Given the description of an element on the screen output the (x, y) to click on. 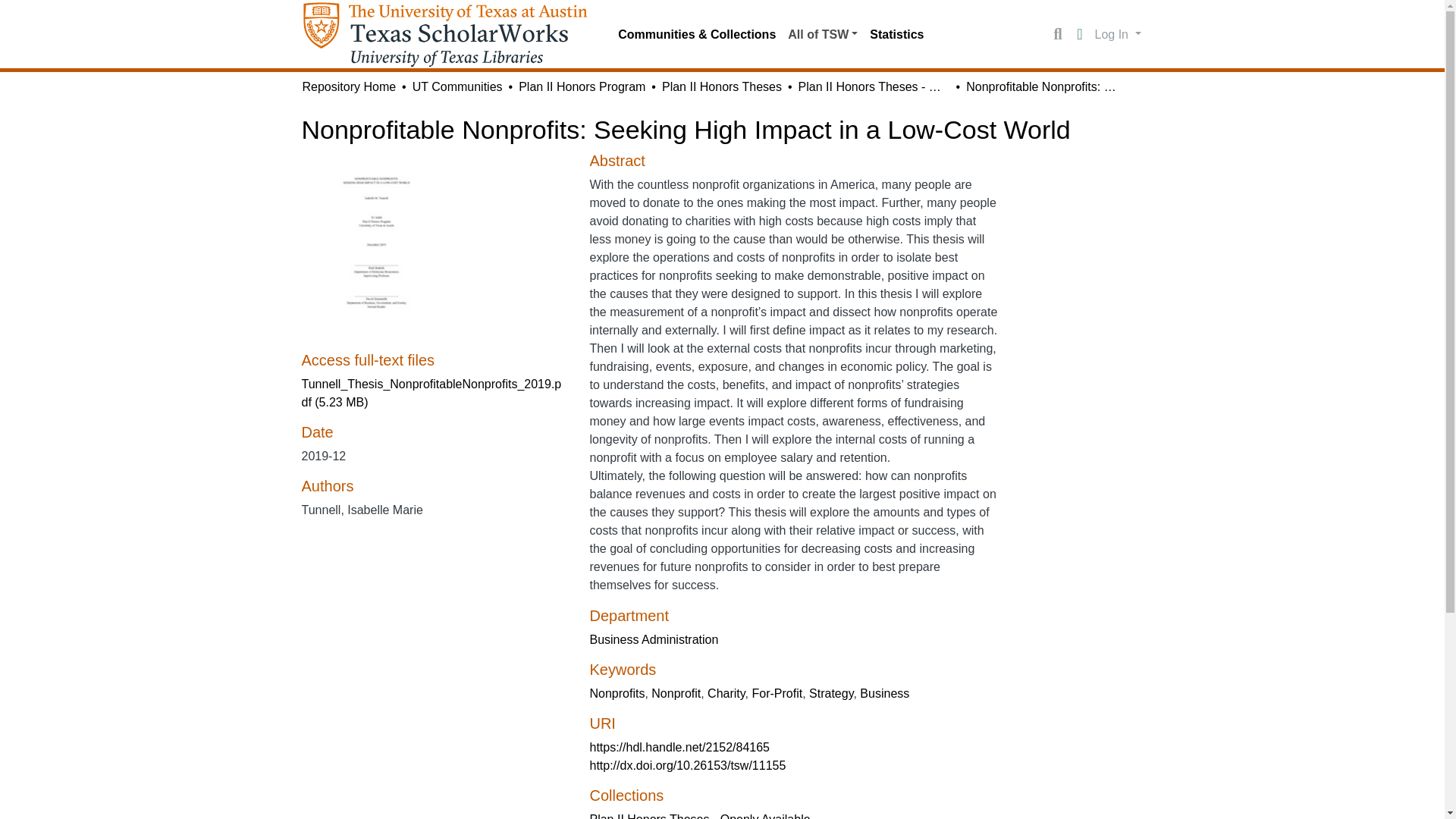
Language switch (1079, 34)
Search (1057, 34)
All of TSW (822, 34)
Strategy (831, 693)
Repository Home (348, 86)
Plan II Honors Program (581, 86)
Statistics (896, 34)
Business Administration (653, 639)
Plan II Honors Theses - Openly Available (873, 86)
For-Profit (777, 693)
